Given the description of an element on the screen output the (x, y) to click on. 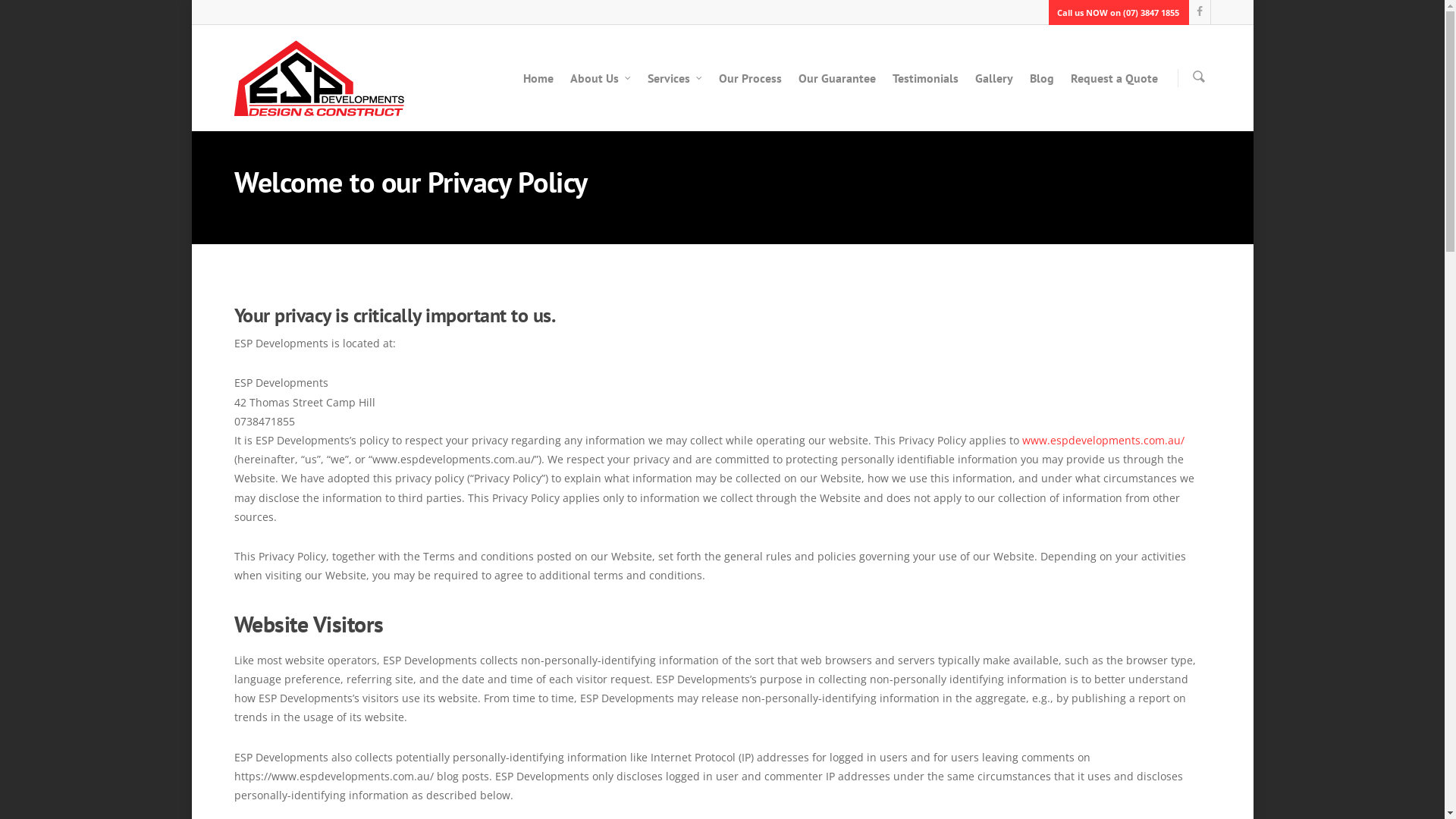
Our Process Element type: text (750, 85)
Our Guarantee Element type: text (836, 85)
Home Element type: text (538, 85)
Request a Quote Element type: text (1114, 85)
Blog Element type: text (1041, 85)
Gallery Element type: text (993, 85)
www.espdevelopments.com.au/ Element type: text (1103, 440)
Testimonials Element type: text (924, 85)
Services Element type: text (674, 85)
About Us Element type: text (600, 85)
Call us NOW on (07) 3847 1855 Element type: text (1116, 12)
